Given the description of an element on the screen output the (x, y) to click on. 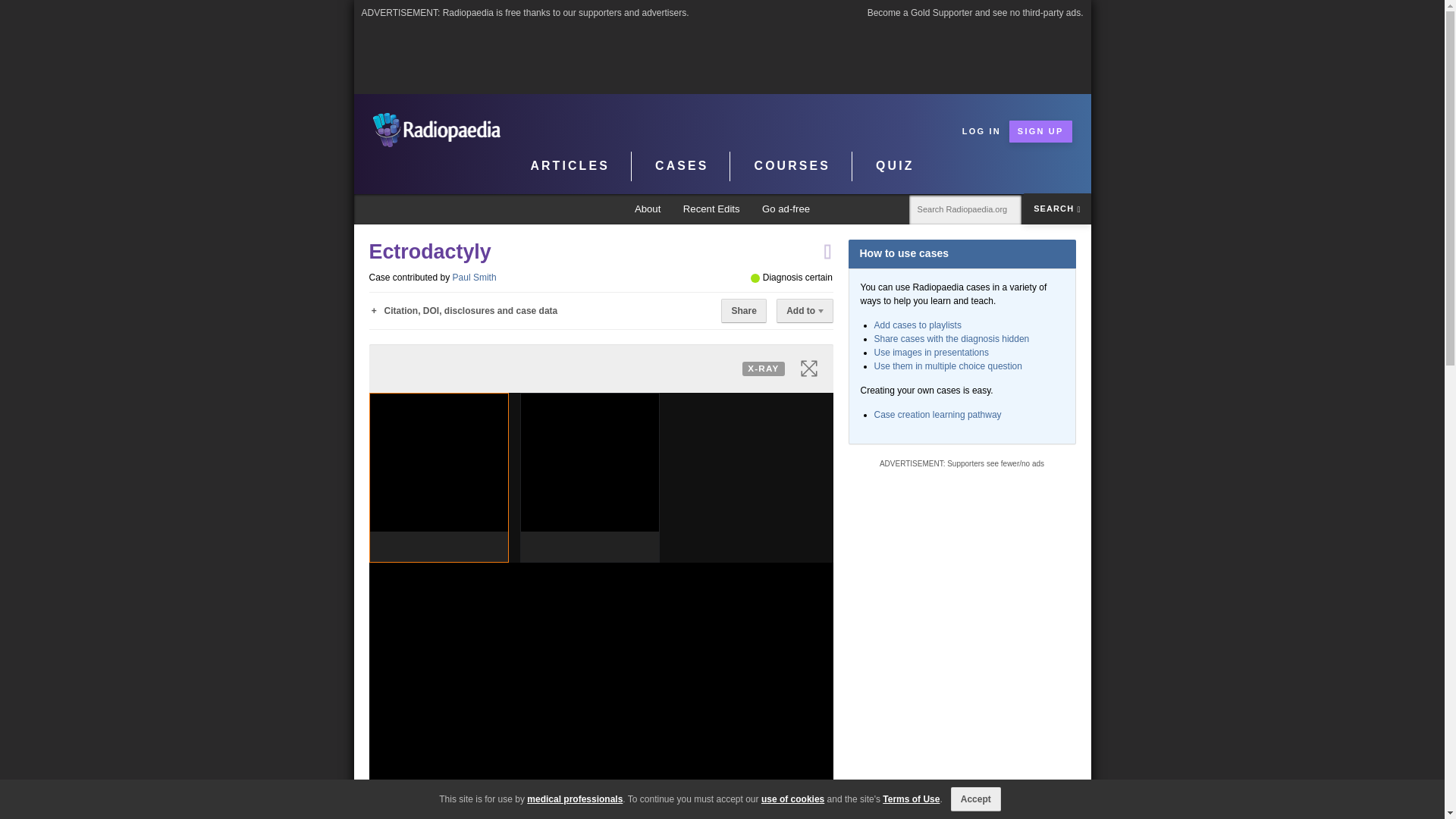
Share Case (742, 310)
SEARCH (1056, 208)
QUIZ (895, 166)
View study in fullscreen (807, 368)
Recent Edits (710, 209)
About (647, 209)
Add to (804, 310)
COURSES (791, 166)
Go ad-free (785, 209)
LOG IN (981, 131)
